Given the description of an element on the screen output the (x, y) to click on. 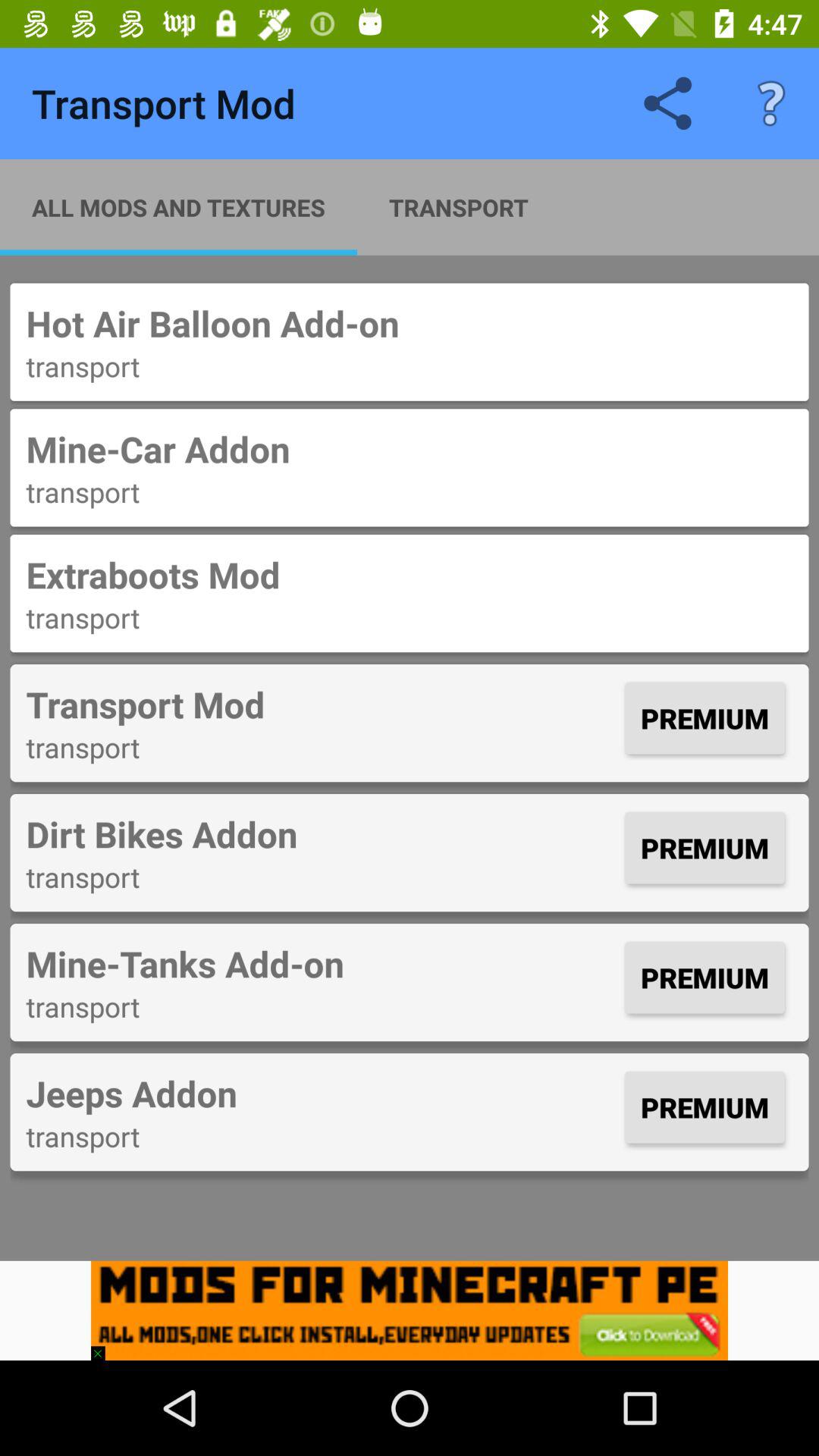
go to app (409, 1310)
